Given the description of an element on the screen output the (x, y) to click on. 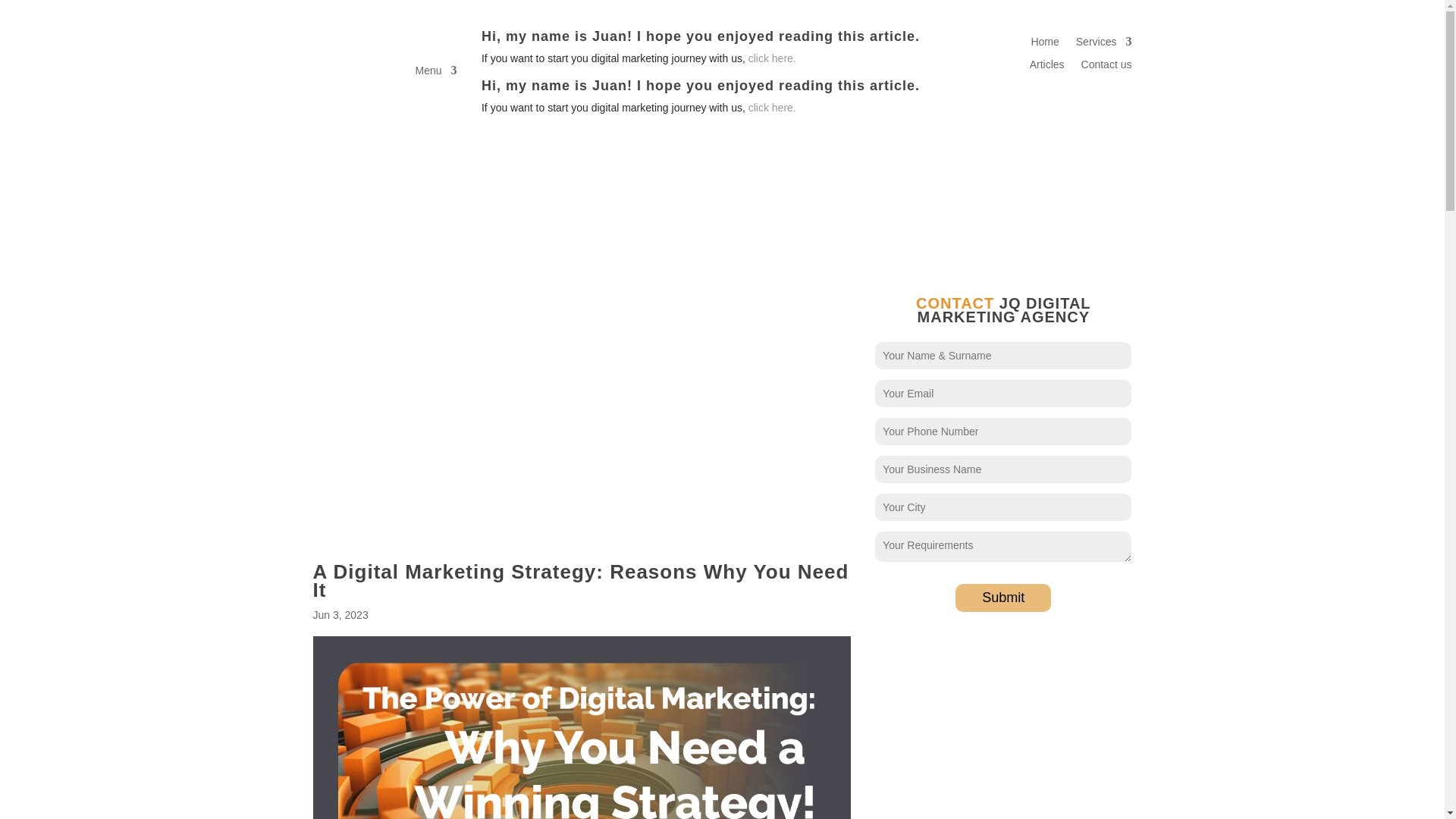
Articles (1046, 67)
click here. (772, 107)
Contact us (1106, 67)
click here. (772, 58)
Submit (1003, 597)
Home (1044, 44)
Submit (1003, 597)
power-of-dig-marketing-blog-image (581, 727)
Services (1103, 44)
